Given the description of an element on the screen output the (x, y) to click on. 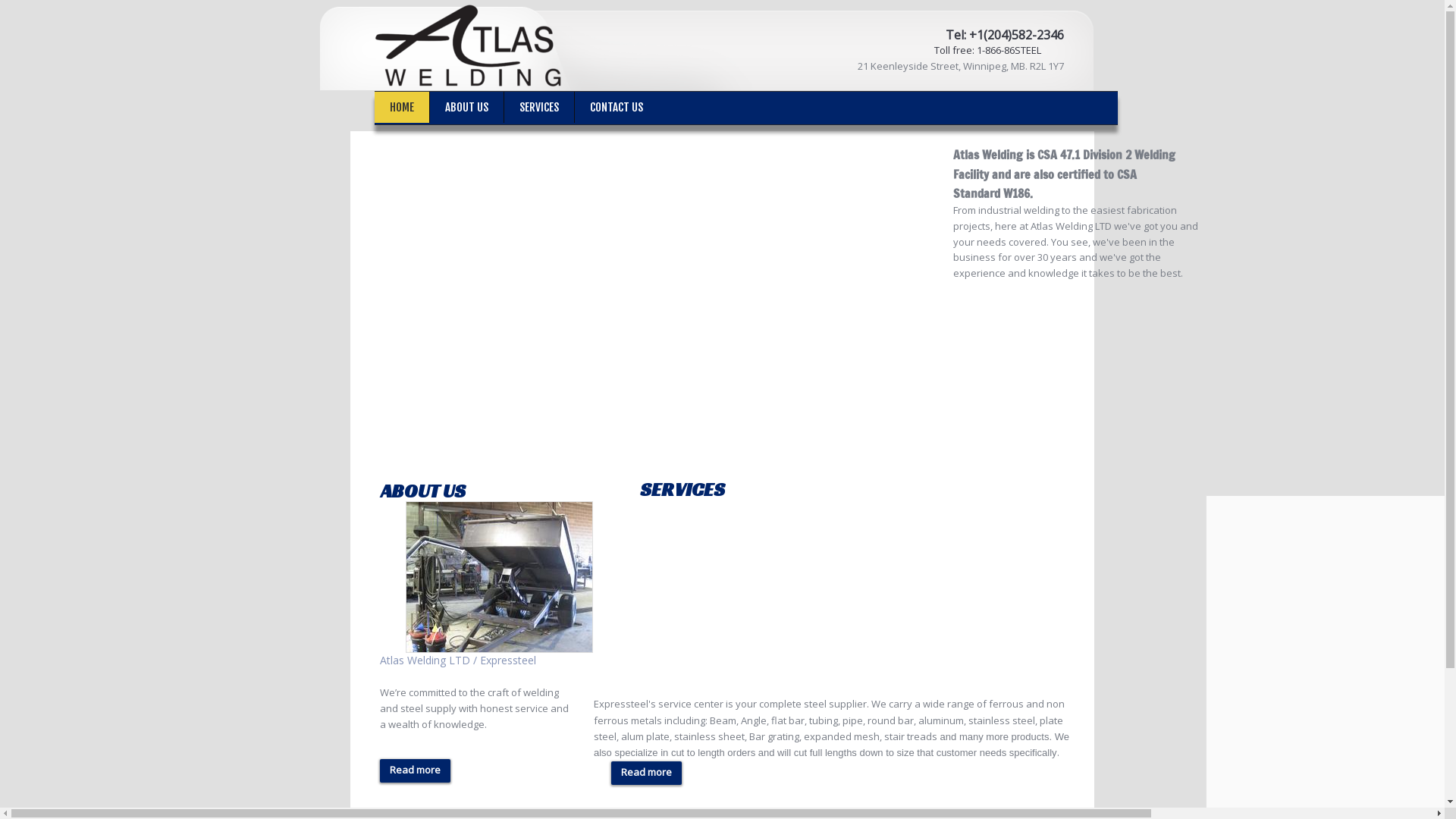
ABOUT US Element type: text (466, 106)
Read more Element type: text (414, 770)
CONTACT US Element type: text (616, 106)
Read more Element type: text (646, 772)
SERVICES Element type: text (539, 106)
HOME Element type: text (401, 106)
